Given the description of an element on the screen output the (x, y) to click on. 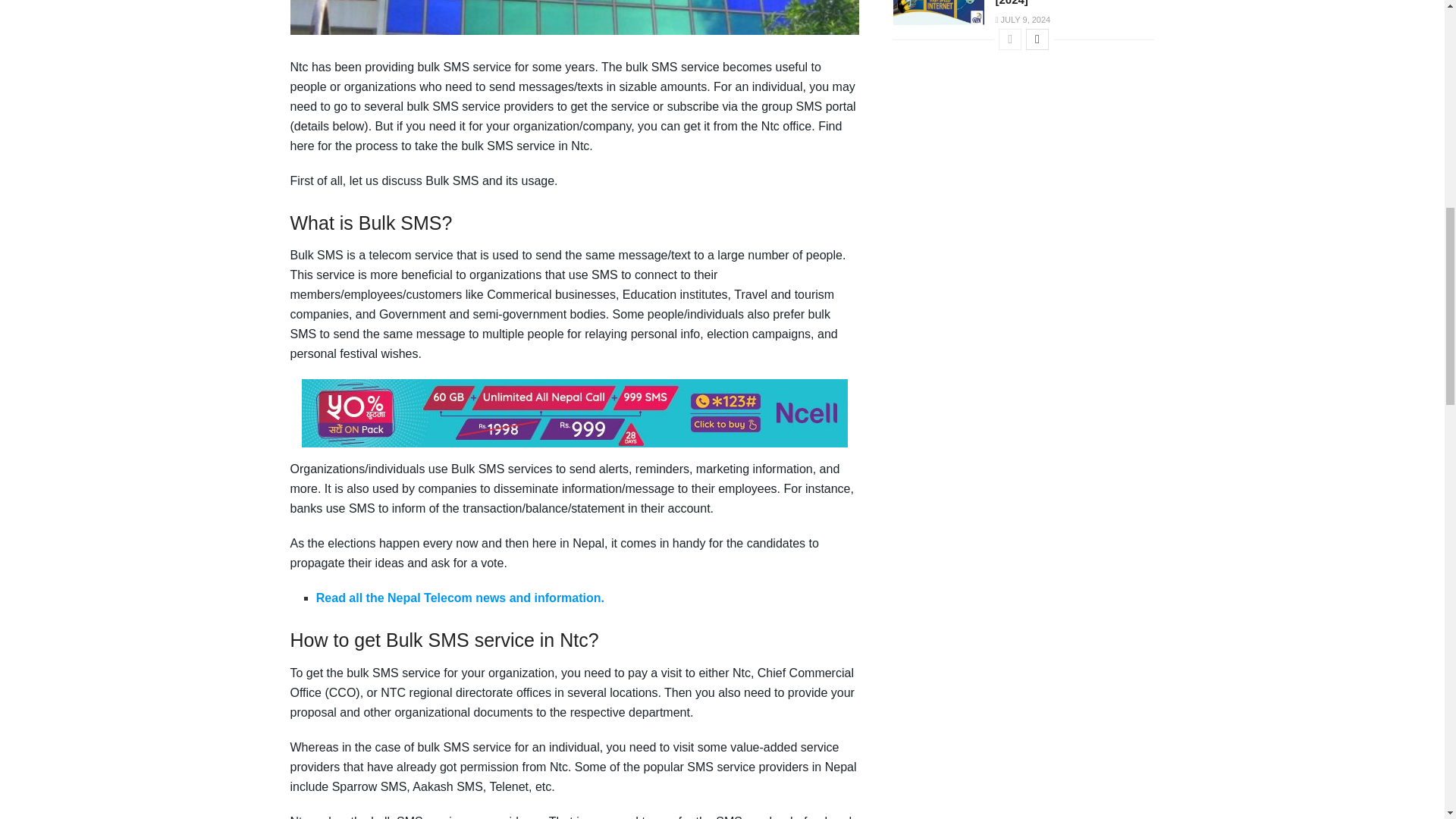
Previous (1010, 38)
Next (1037, 38)
